Given the description of an element on the screen output the (x, y) to click on. 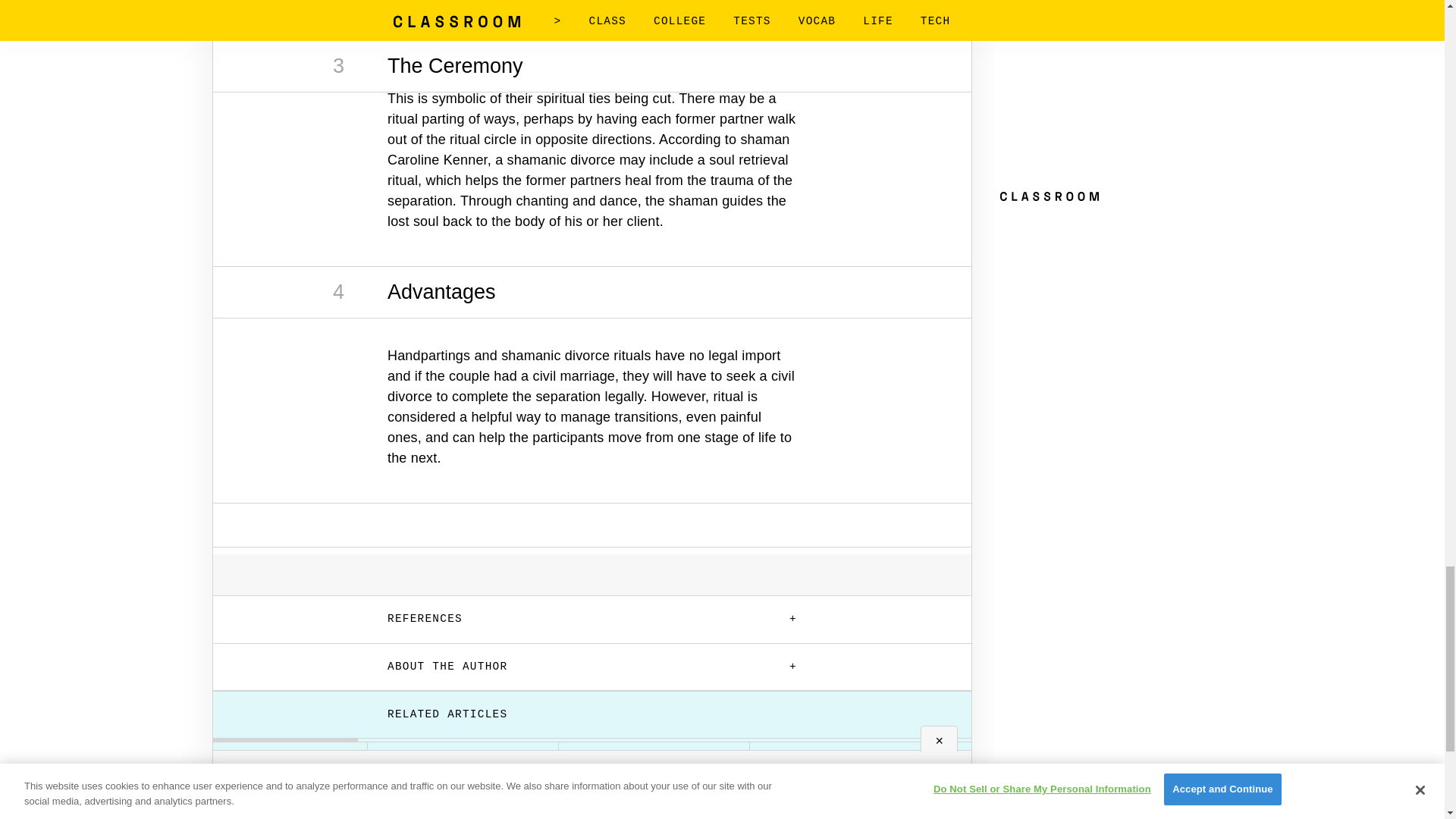
How to Treat a Spouse in a Marital Separation (844, 778)
Rituals Preceding Hindu Marriages (462, 778)
Buddhist Prayer Beads Used in a Wedding (654, 780)
Religious Beliefs on Cohabitation (1035, 778)
Islamic Beliefs on Marriage (1227, 778)
